Given the description of an element on the screen output the (x, y) to click on. 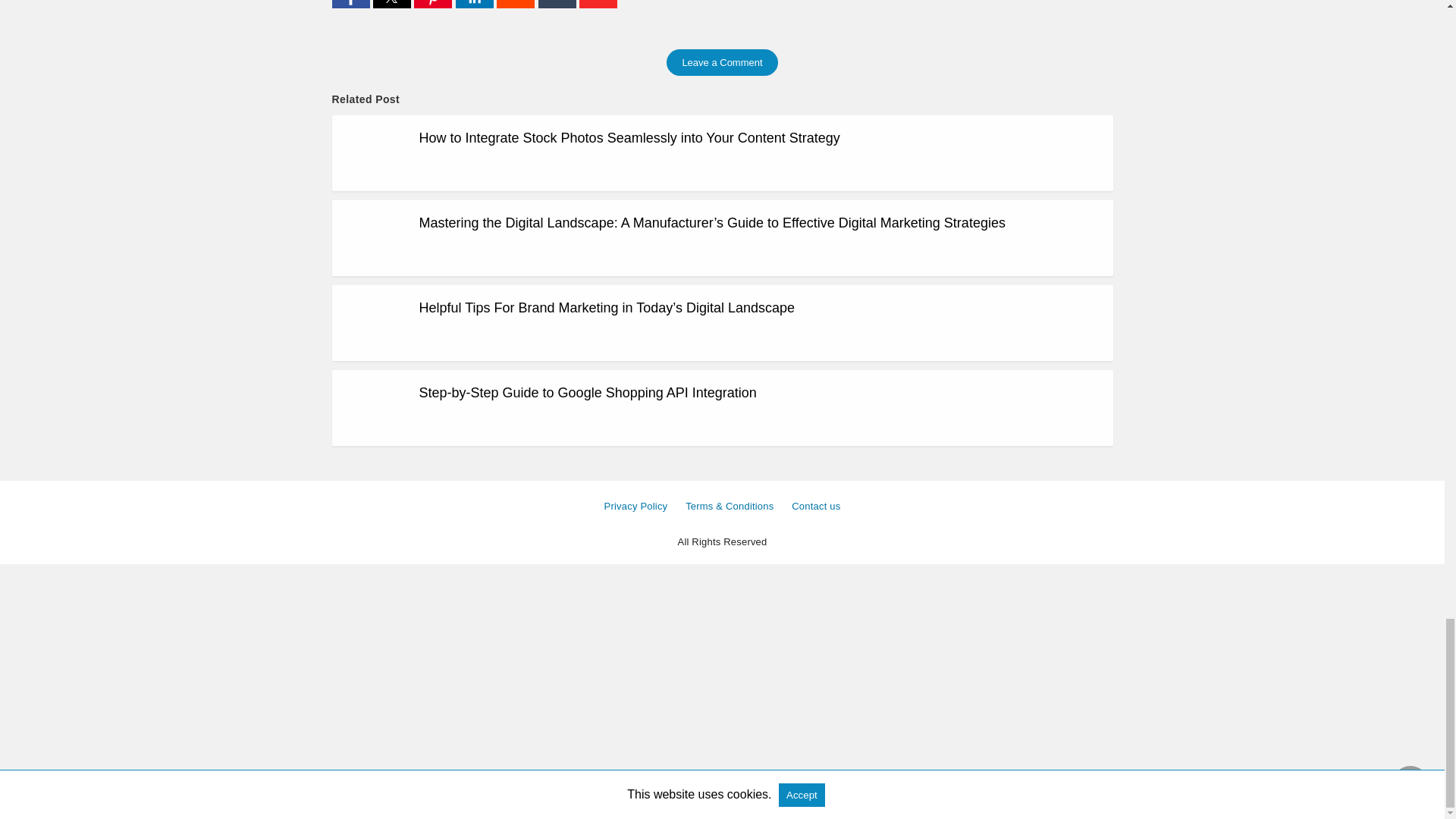
Step-by-Step Guide to Google Shopping API Integration (587, 392)
flipboard share (598, 5)
Step-by-Step Guide to Google Shopping API Integration (587, 392)
Leave a Comment (721, 62)
Privacy Policy (636, 505)
reddit share (516, 5)
tumblr share (558, 5)
Contact us (816, 505)
Leave a Comment (721, 62)
